Given the description of an element on the screen output the (x, y) to click on. 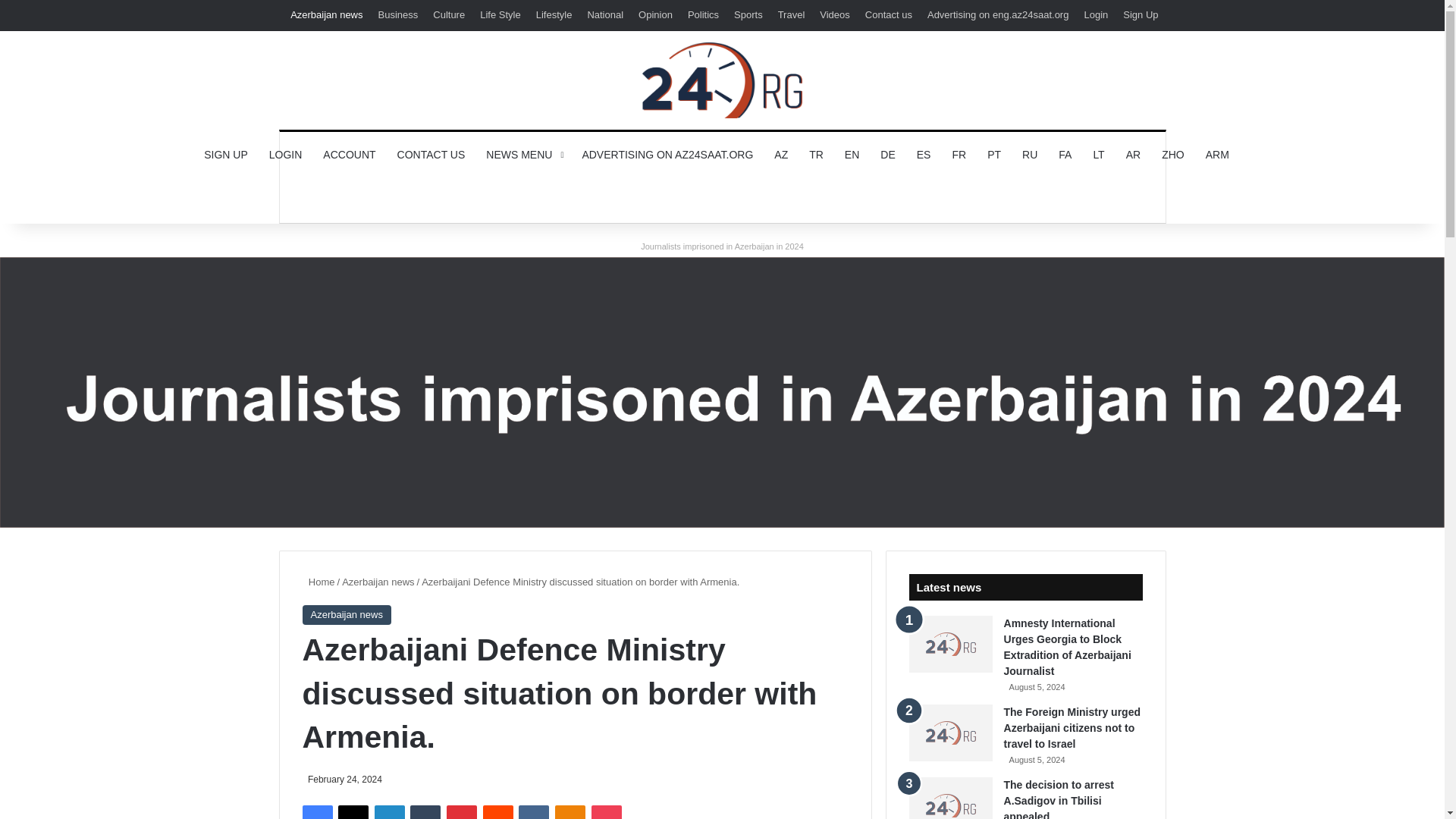
Login (1095, 15)
CONTACT US (431, 154)
Politics (702, 15)
Videos (834, 15)
X (352, 812)
Sign Up (1140, 15)
Facebook (316, 812)
Pinterest (461, 812)
LinkedIn (389, 812)
Reddit (498, 812)
Lifestyle (553, 15)
Tumblr (425, 812)
Culture (448, 15)
ADVERTISING ON AZ24SAAT.ORG (666, 154)
Business (398, 15)
